Given the description of an element on the screen output the (x, y) to click on. 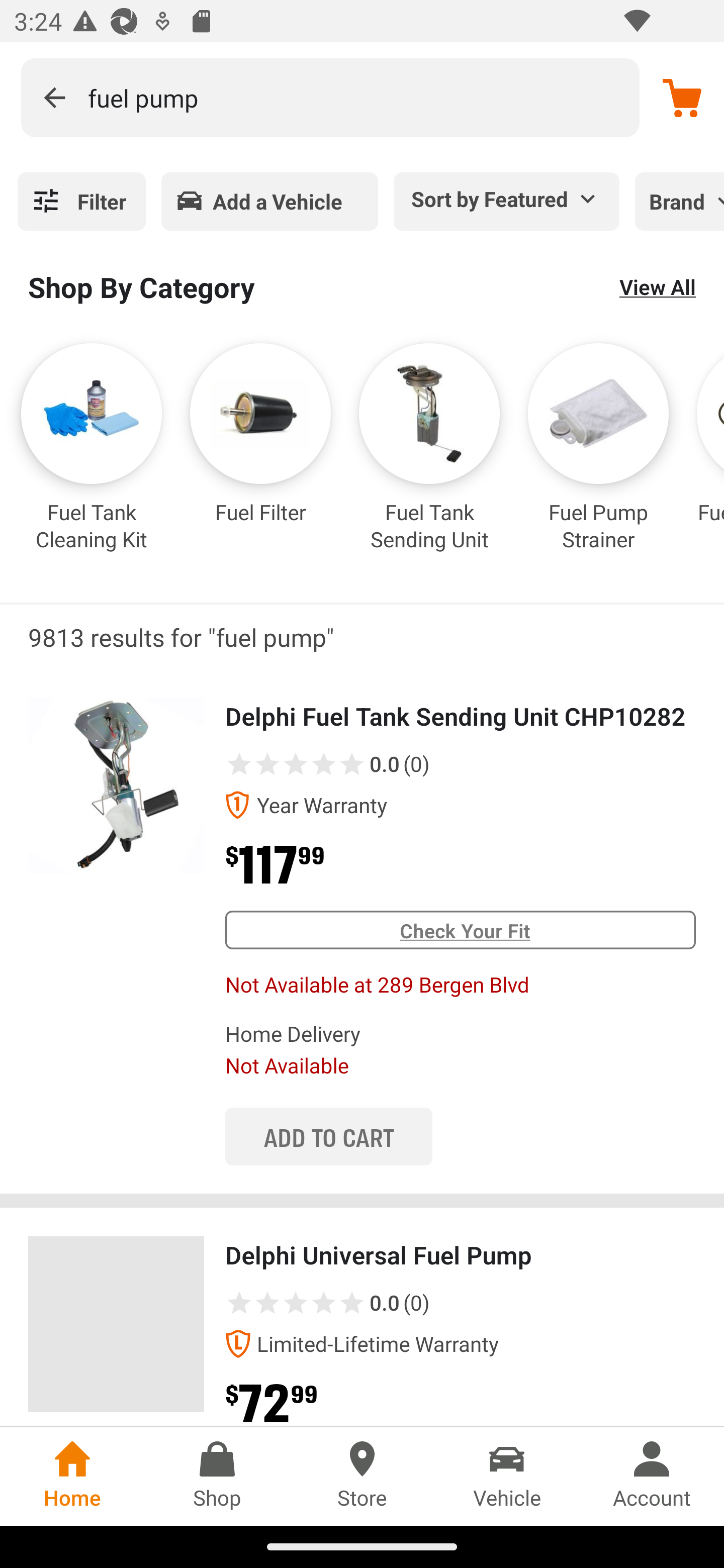
Find parts and products  fuel pump (330, 97)
 (54, 97)
Cart, no items  (681, 97)
Filter (81, 201)
 Add a Vehicle (269, 201)
Brand  (679, 201)
collapsed Sort by Featured  (506, 198)
View all categories View All (657, 286)
Fuel Tank Cleaning Kit (91, 462)
Fuel Filter (259, 462)
Fuel Tank Sending Unit (429, 462)
Fuel Pump Strainer (597, 462)
Delphi Fuel Tank Sending Unit CHP10282 (116, 785)
Press to rate 1 out of 5  (239, 763)
Press to rate 2 out of 5  (267, 763)
Press to rate 3 out of 5  (295, 763)
Press to rate 4 out of 5  (323, 763)
Press to rate 5 out of 5  (352, 763)
Check your fit Check Your Fit (460, 929)
Add to cart ADD TO CART (328, 1136)
Delphi Universal Fuel Pump (116, 1323)
Press to rate 1 out of 5  (239, 1302)
Press to rate 2 out of 5  (267, 1302)
Press to rate 3 out of 5  (295, 1302)
Press to rate 4 out of 5  (323, 1302)
Press to rate 5 out of 5  (352, 1302)
Home (72, 1475)
Shop (216, 1475)
Store (361, 1475)
Vehicle (506, 1475)
Account (651, 1475)
